Given the description of an element on the screen output the (x, y) to click on. 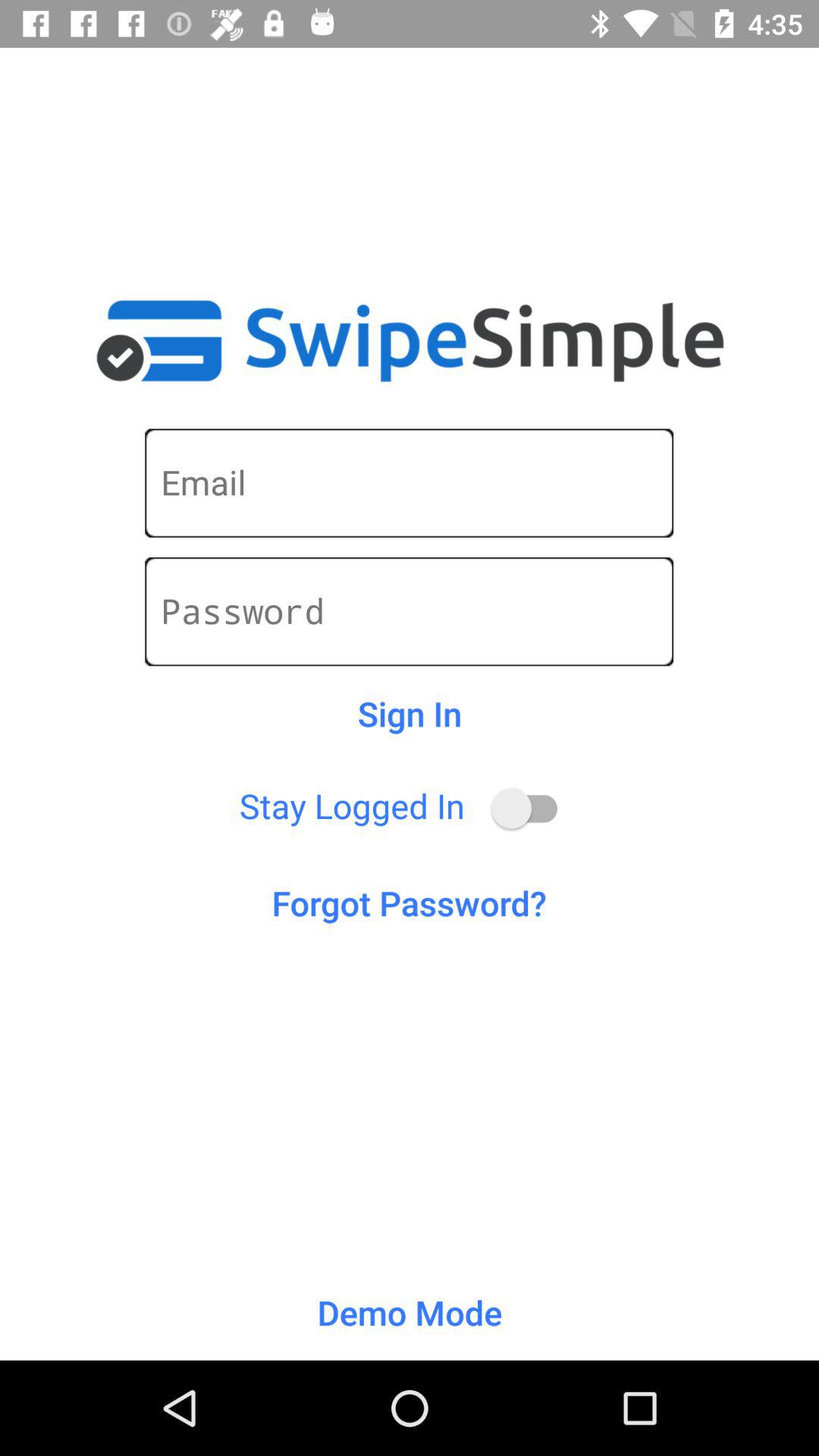
choose forgot password? icon (408, 902)
